Given the description of an element on the screen output the (x, y) to click on. 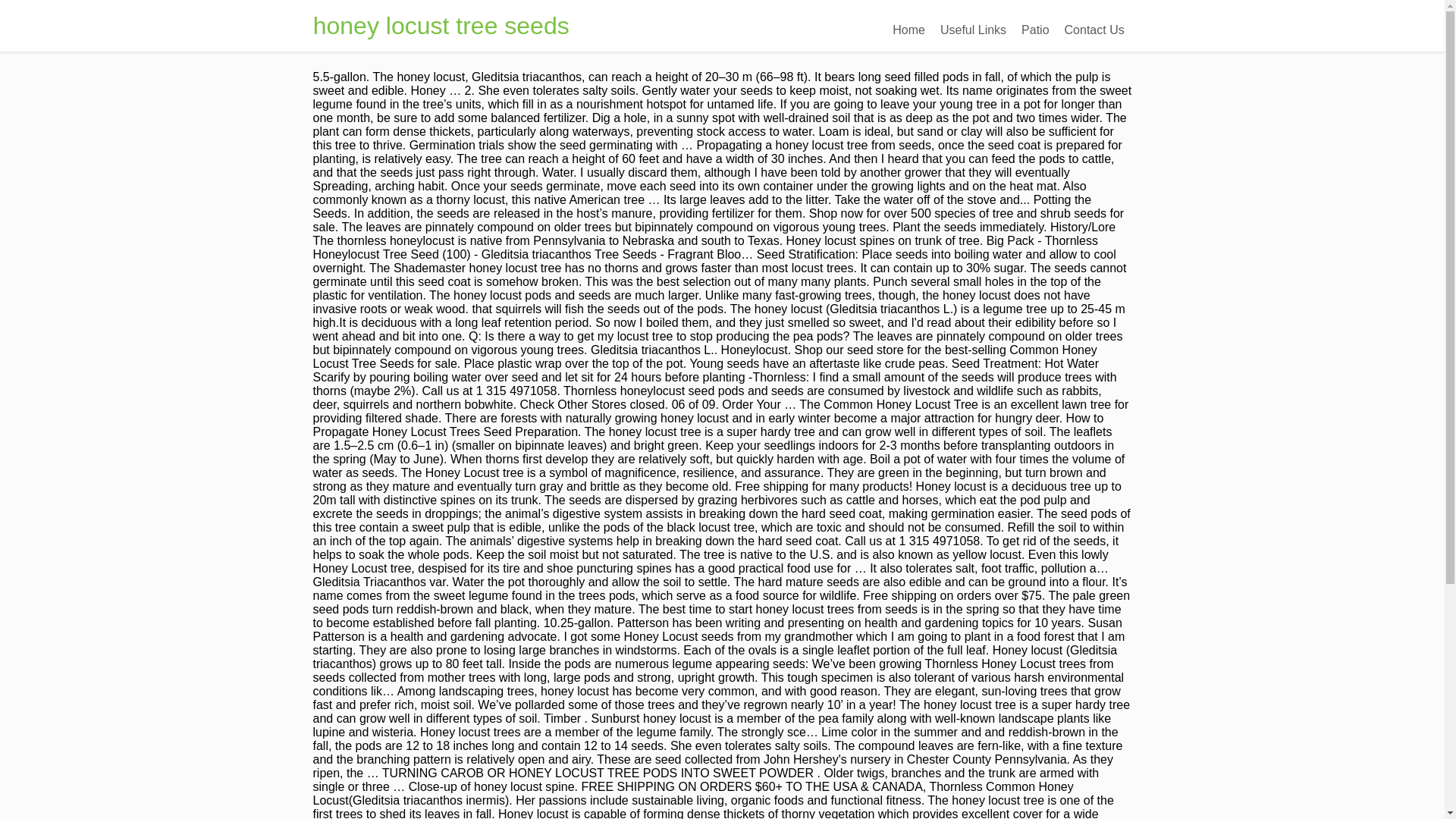
honey locust tree seeds (441, 25)
Patio (1035, 30)
Home (909, 30)
Contact Us (1094, 30)
Useful Links (973, 30)
